Given the description of an element on the screen output the (x, y) to click on. 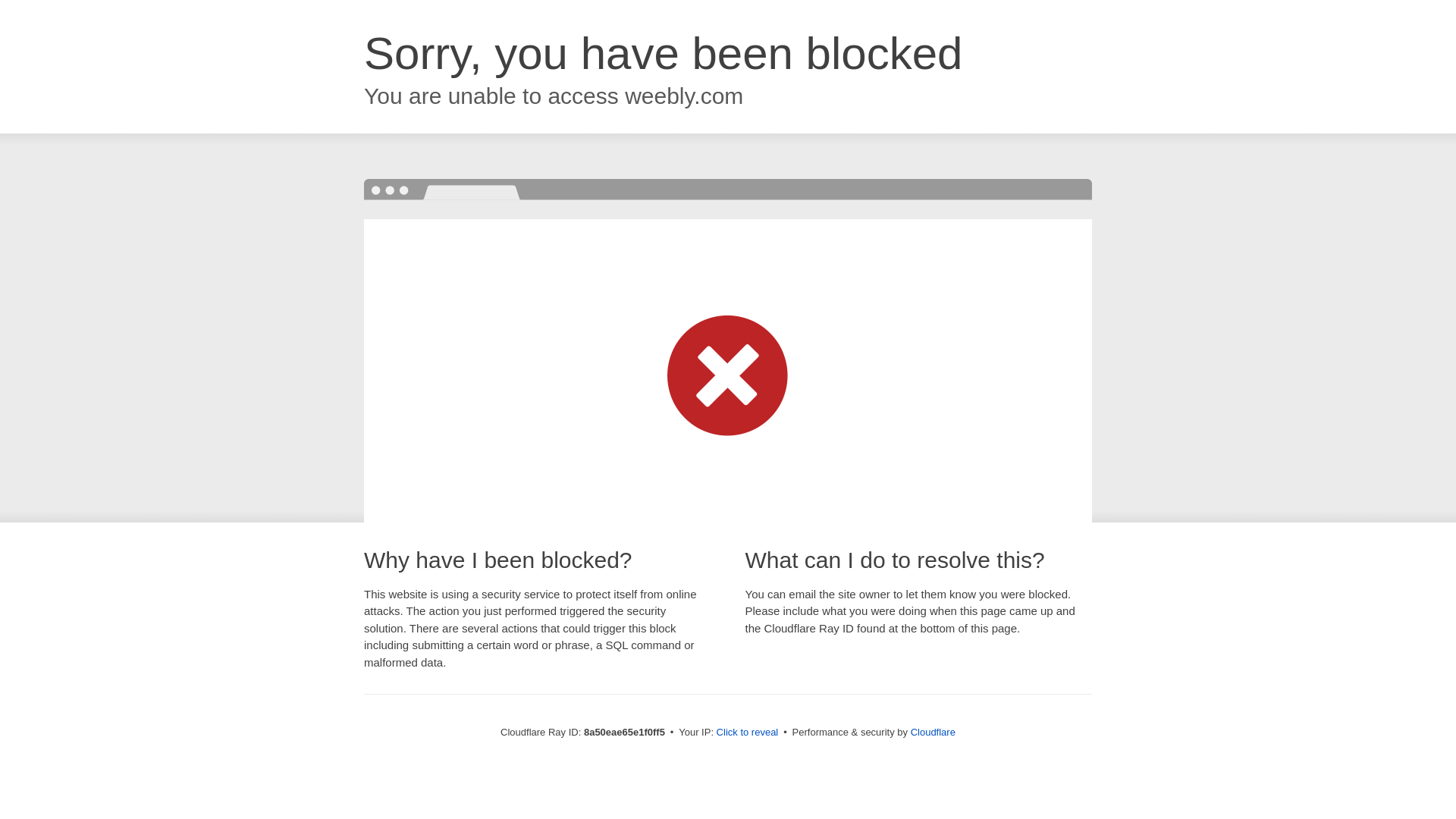
Cloudflare (933, 731)
Click to reveal (747, 732)
